Given the description of an element on the screen output the (x, y) to click on. 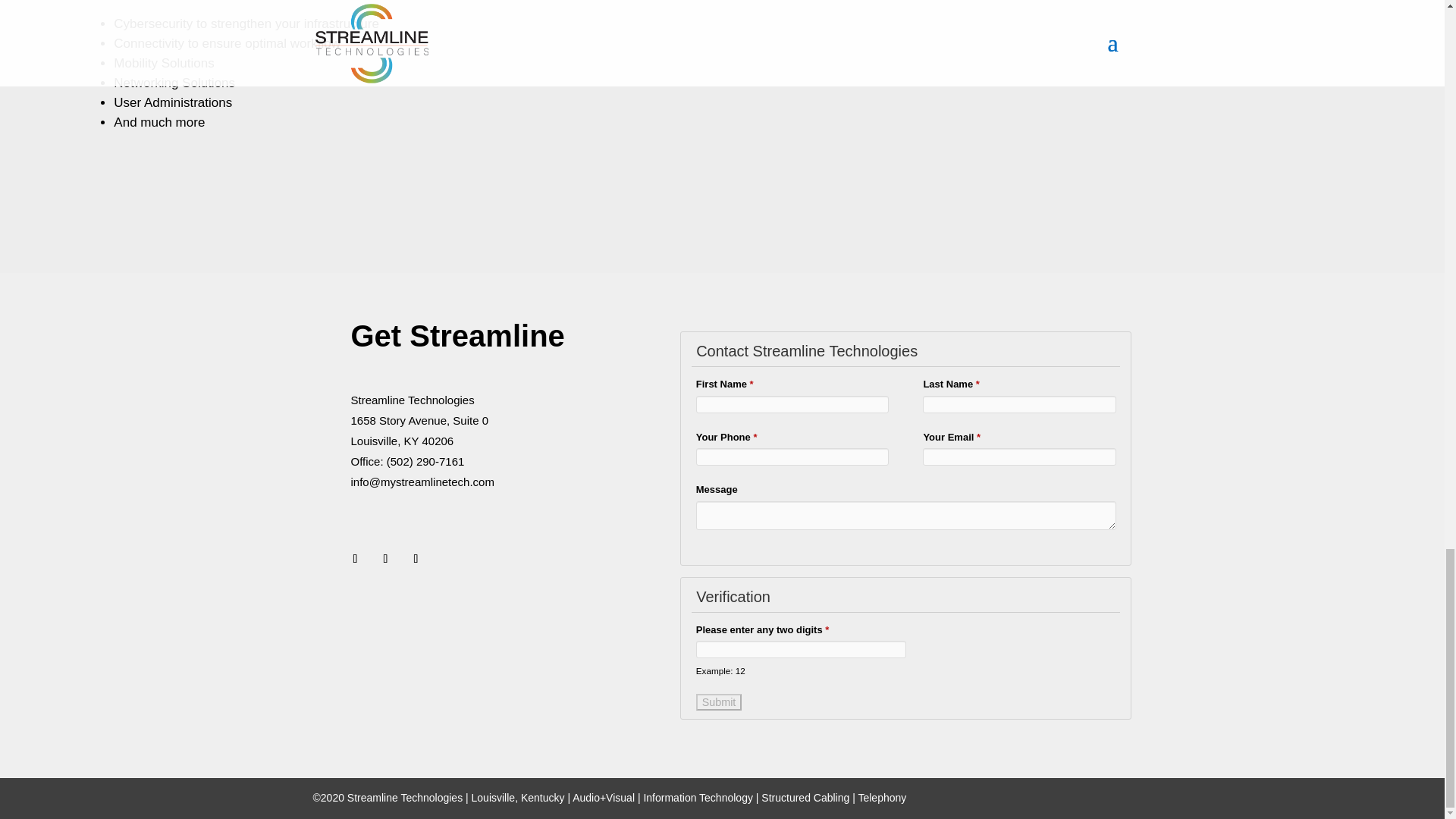
Follow on LinkedIn (415, 558)
Submit (718, 701)
Follow on Facebook (354, 558)
Submit (718, 701)
Follow on Twitter (384, 558)
